Given the description of an element on the screen output the (x, y) to click on. 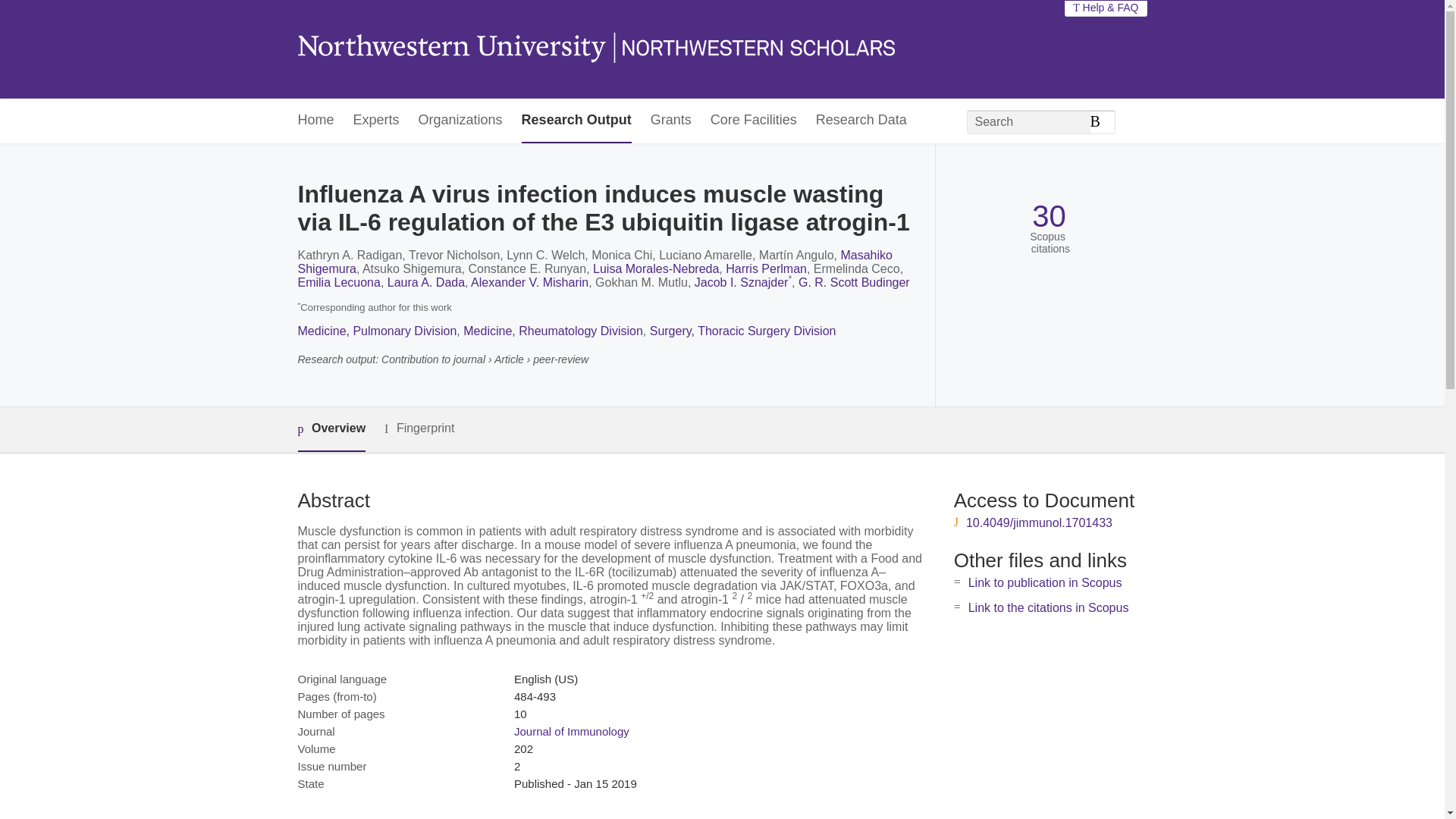
Jacob I. Sznajder (741, 282)
Masahiko Shigemura (594, 261)
Laura A. Dada (425, 282)
Luisa Morales-Nebreda (655, 268)
Research Output (576, 120)
Organizations (460, 120)
Medicine, Rheumatology Division (553, 330)
Experts (375, 120)
Grants (670, 120)
